Given the description of an element on the screen output the (x, y) to click on. 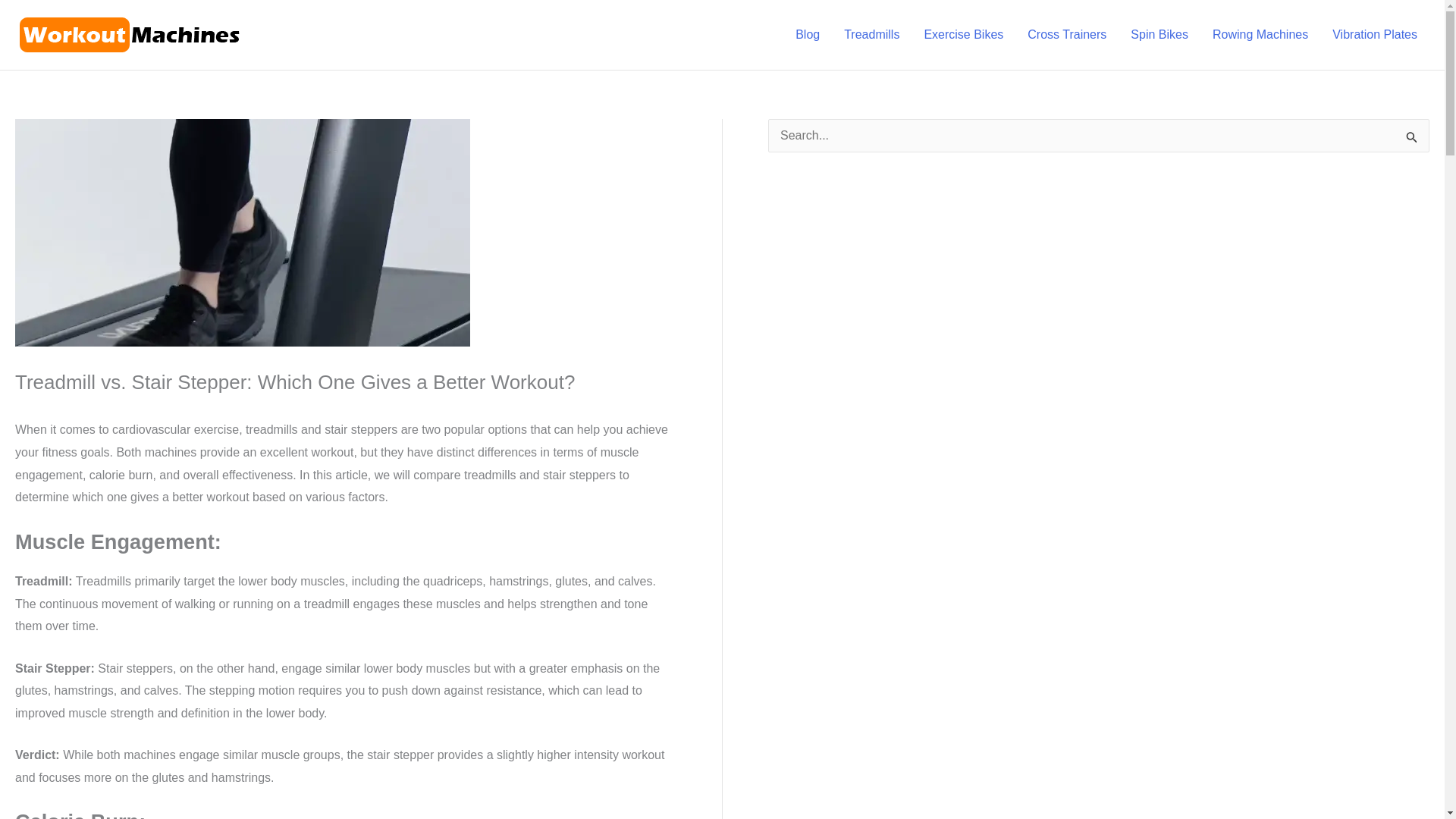
Search (1411, 139)
Treadmills (871, 34)
Rowing Machines (1259, 34)
Search (1411, 139)
Blog (807, 34)
Vibration Plates (1374, 34)
Spin Bikes (1158, 34)
Cross Trainers (1066, 34)
Search (1411, 139)
Exercise Bikes (962, 34)
